Given the description of an element on the screen output the (x, y) to click on. 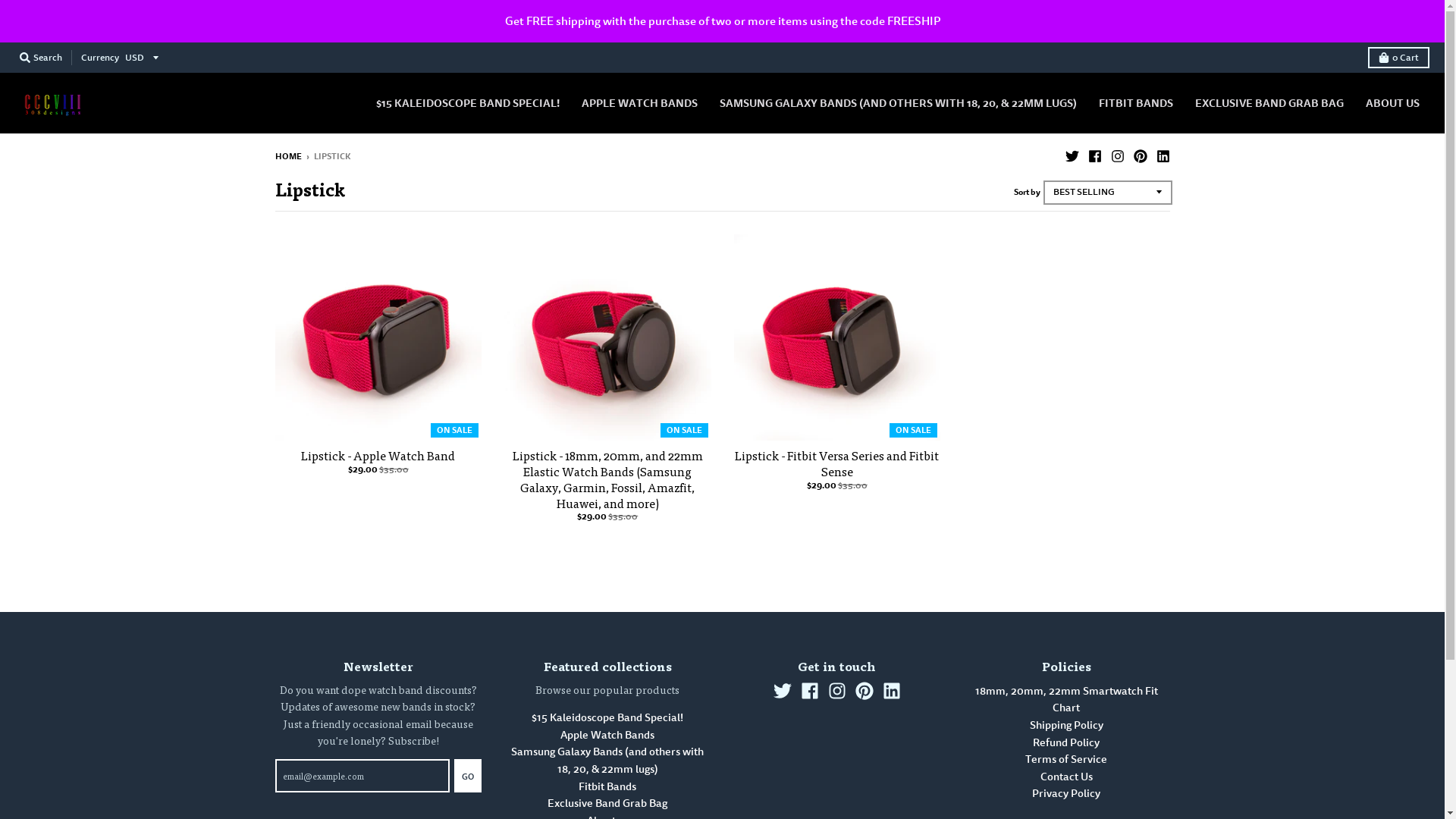
Privacy Policy Element type: text (1066, 793)
$15 Kaleidoscope Band Special! Element type: text (607, 717)
Twitter - 308designs - CCCVIII Element type: hover (1071, 155)
Apple Watch Bands Element type: text (607, 735)
HOME Element type: text (287, 156)
Shipping Policy Element type: text (1066, 725)
Pinterest - 308designs - CCCVIII Element type: hover (864, 690)
Facebook - 308designs - CCCVIII Element type: hover (1094, 155)
Instagram - 308designs - CCCVIII Element type: hover (1116, 155)
Fitbit Bands Element type: text (607, 786)
Instagram - 308designs - CCCVIII Element type: hover (837, 690)
Facebook - 308designs - CCCVIII Element type: hover (809, 690)
GO Element type: text (467, 775)
EXCLUSIVE BAND GRAB BAG Element type: text (1269, 102)
18mm, 20mm, 22mm Smartwatch Fit Chart Element type: text (1066, 699)
ON SALE Element type: text (837, 337)
APPLE WATCH BANDS Element type: text (639, 102)
ABOUT US Element type: text (1392, 102)
Search Element type: text (40, 57)
ON SALE Element type: text (607, 337)
0 Cart Element type: text (1398, 57)
LinkedIn - 308designs - CCCVIII Element type: hover (1162, 155)
Samsung Galaxy Bands (and others with 18, 20, & 22mm lugs) Element type: text (607, 760)
SAMSUNG GALAXY BANDS (AND OTHERS WITH 18, 20, & 22MM LUGS) Element type: text (897, 102)
Refund Policy Element type: text (1065, 742)
Lipstick - Fitbit Versa Series and Fitbit Sense Element type: text (836, 463)
Exclusive Band Grab Bag Element type: text (607, 803)
Terms of Service Element type: text (1066, 759)
ON SALE Element type: text (377, 337)
FITBIT BANDS Element type: text (1135, 102)
Lipstick - Apple Watch Band Element type: text (378, 455)
Twitter - 308designs - CCCVIII Element type: hover (782, 690)
LinkedIn - 308designs - CCCVIII Element type: hover (891, 690)
Pinterest - 308designs - CCCVIII Element type: hover (1139, 155)
$15 KALEIDOSCOPE BAND SPECIAL! Element type: text (467, 102)
Contact Us Element type: text (1066, 776)
